Given the description of an element on the screen output the (x, y) to click on. 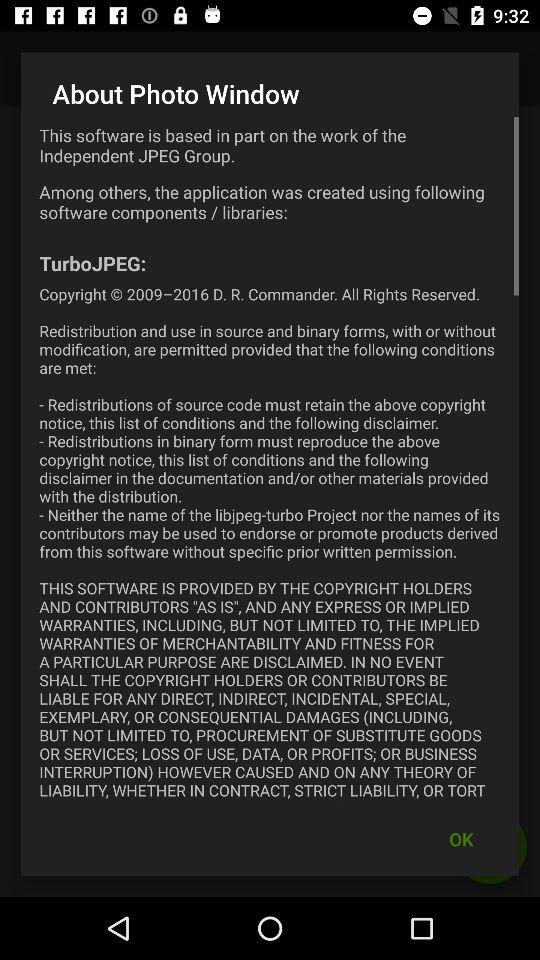
launch the ok icon (461, 838)
